Given the description of an element on the screen output the (x, y) to click on. 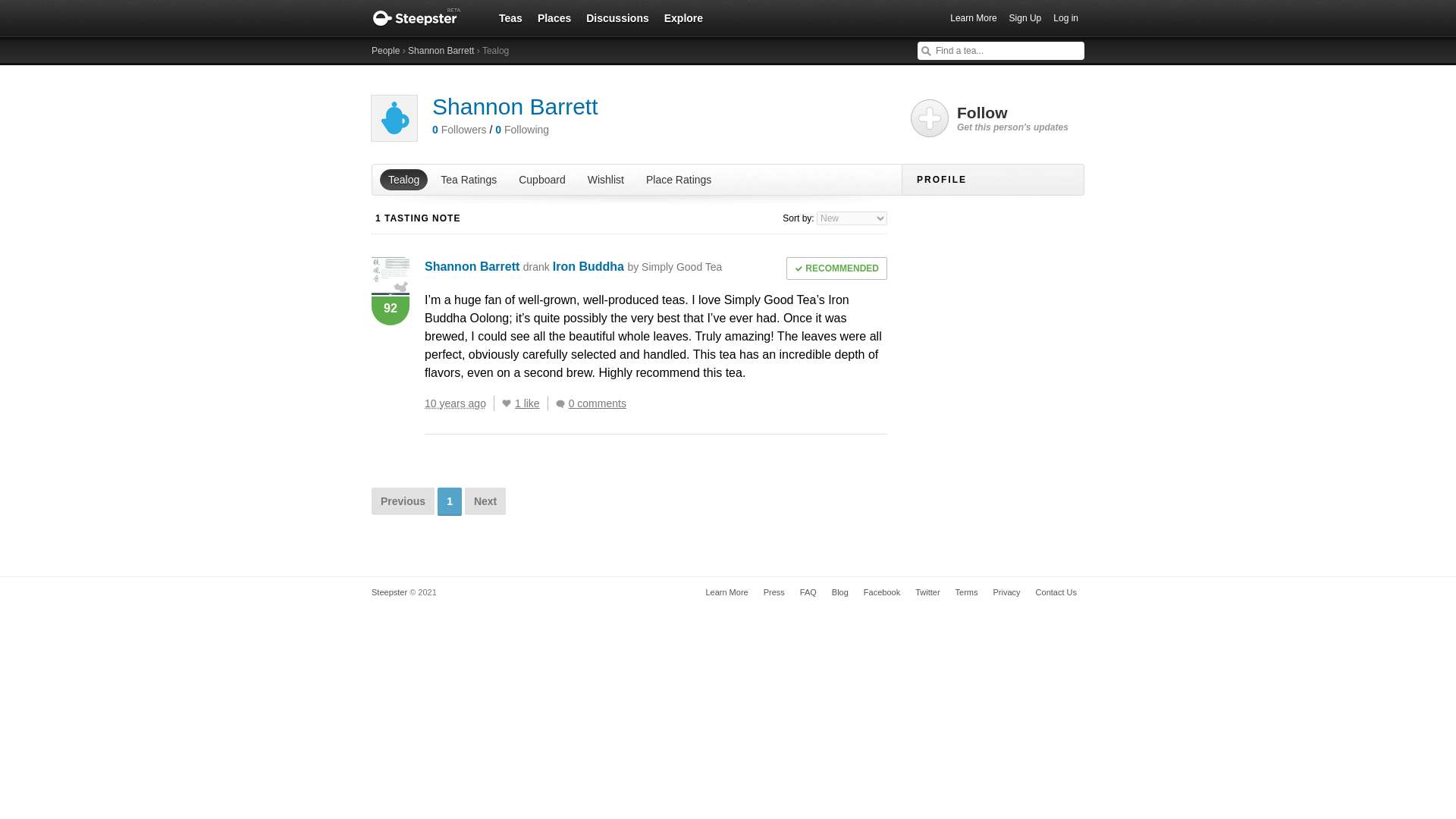
Link to Privacy Policy (1006, 591)
People (384, 50)
Learn More (726, 591)
Shannon Barrett (514, 106)
Places (553, 17)
I Like This (506, 403)
Link to the Official Steepster Blog (840, 591)
Press (773, 591)
Take a Tour of Steepster (726, 591)
Next (484, 501)
10 years ago (460, 403)
FAQ (808, 591)
Cupboard (542, 179)
Wishlist (605, 179)
Teas (510, 17)
